Given the description of an element on the screen output the (x, y) to click on. 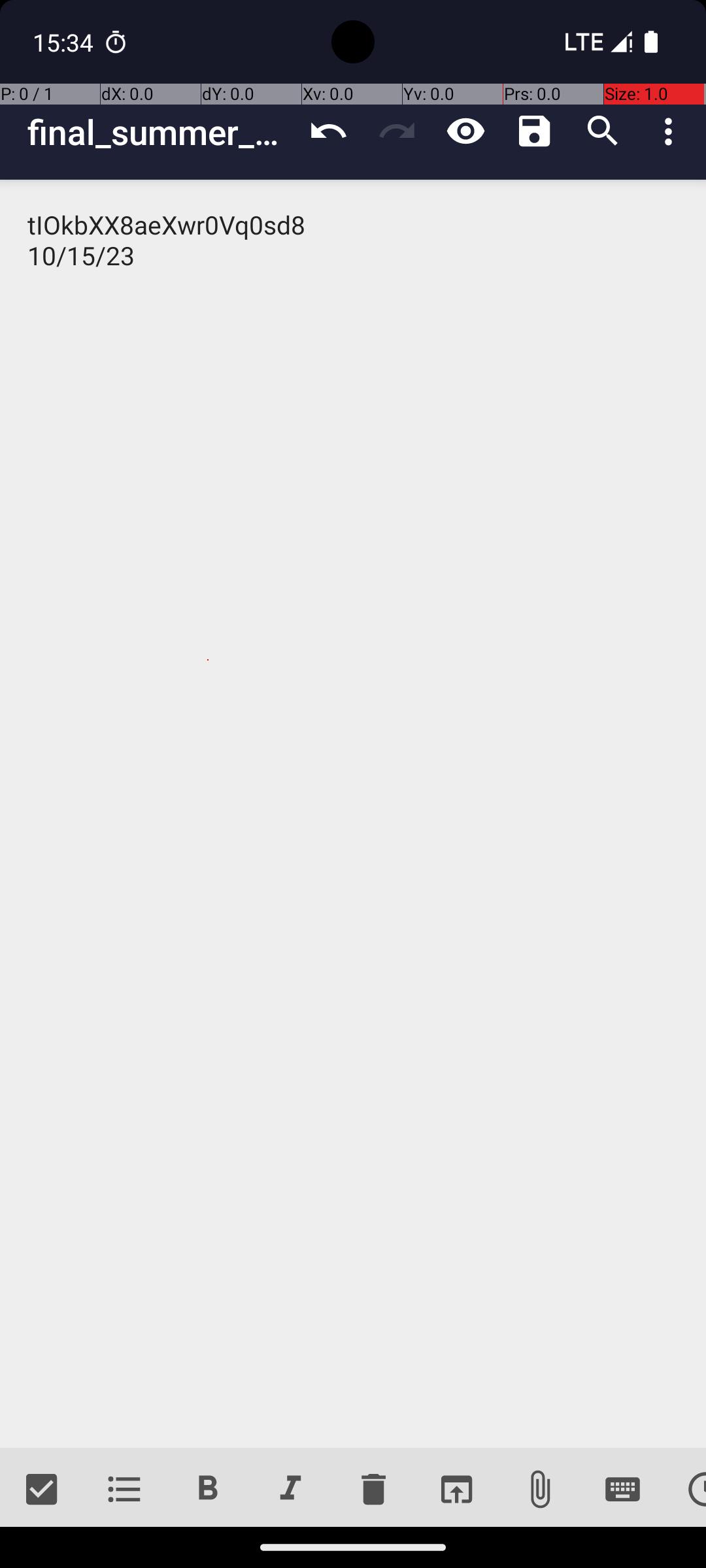
final_summer_vacation_plans Element type: android.widget.TextView (160, 131)
tIOkbXX8aeXwr0Vq0sd8
10/15/23 Element type: android.widget.EditText (353, 813)
